Given the description of an element on the screen output the (x, y) to click on. 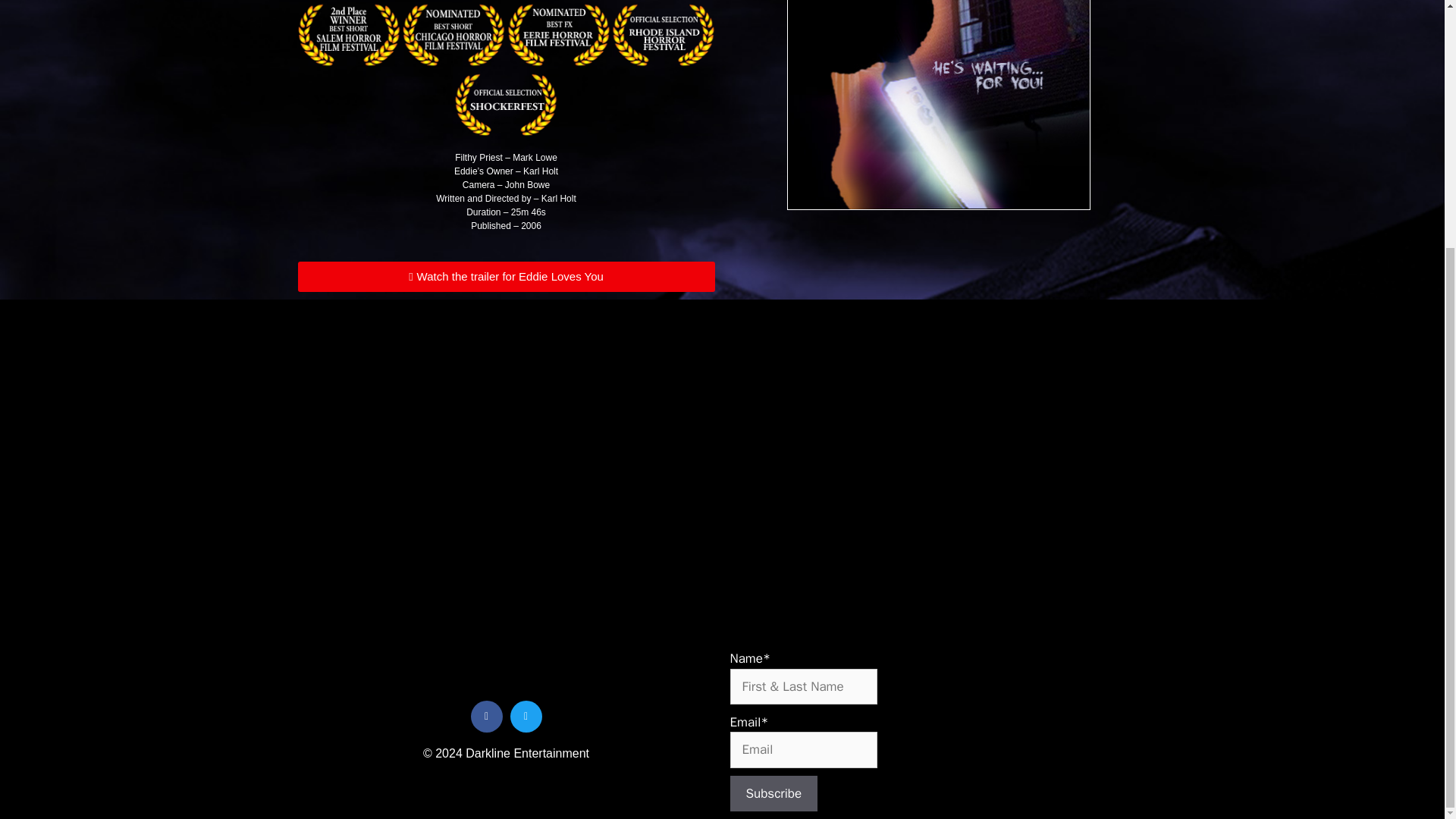
Subscribe (772, 793)
Subscribe (772, 793)
Watch the trailer for Eddie Loves You (505, 276)
